Given the description of an element on the screen output the (x, y) to click on. 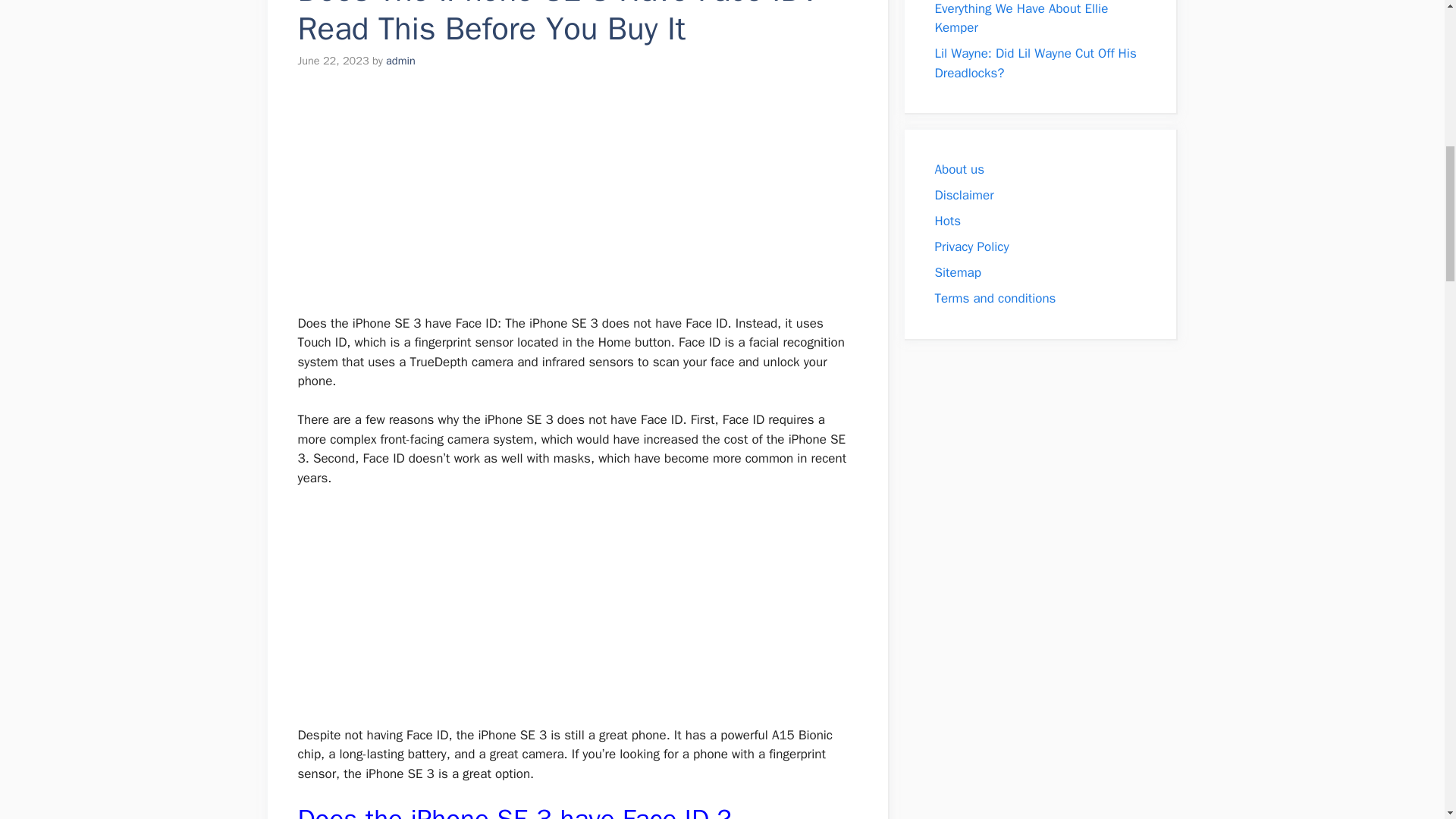
admin (399, 60)
View all posts by admin (399, 60)
